Given the description of an element on the screen output the (x, y) to click on. 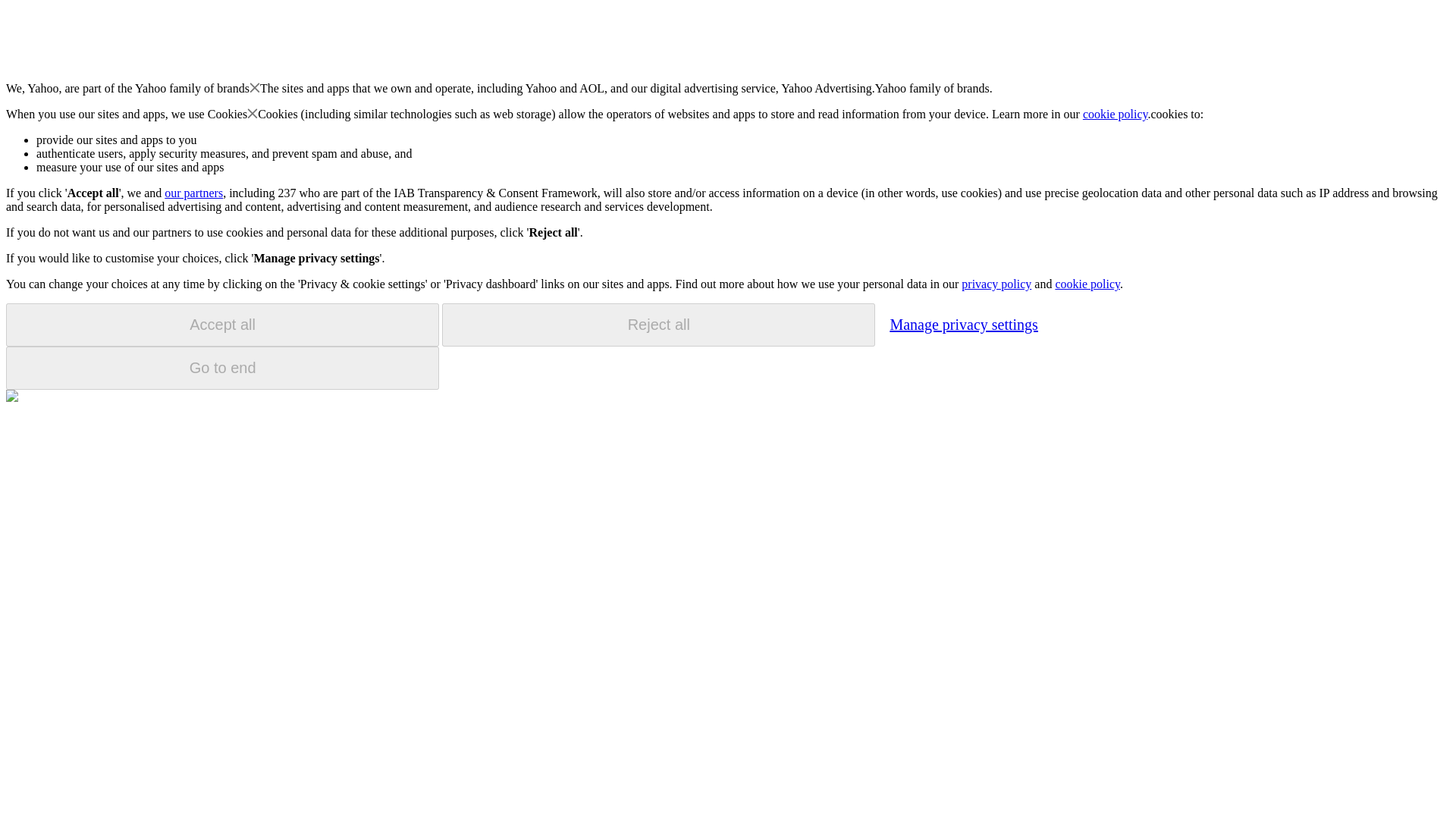
Reject all (658, 324)
cookie policy (1115, 113)
cookie policy (1086, 283)
Manage privacy settings (963, 323)
privacy policy (995, 283)
Accept all (222, 324)
Go to end (222, 367)
our partners (193, 192)
